Given the description of an element on the screen output the (x, y) to click on. 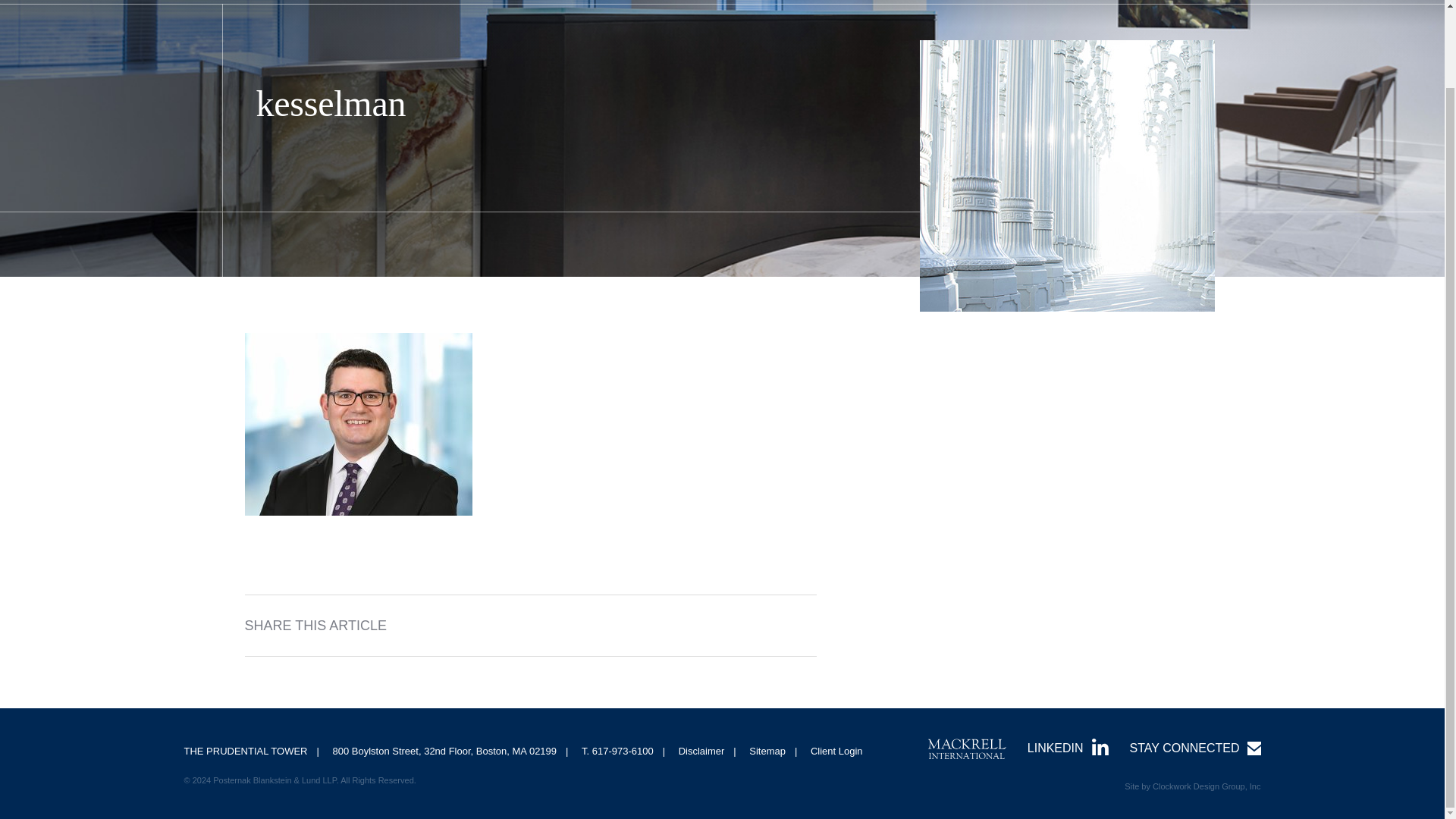
T. 617-973-6100 (616, 750)
800 Boylston Street, 32nd Floor, Boston, MA 02199 (443, 750)
Disclaimer (701, 750)
STAY CONNECTED (1194, 748)
Client Login (836, 750)
Site by Clockwork Design Group, Inc (1192, 786)
Sitemap (767, 750)
LINKEDIN (1067, 748)
THE PRUDENTIAL TOWER (245, 750)
